Given the description of an element on the screen output the (x, y) to click on. 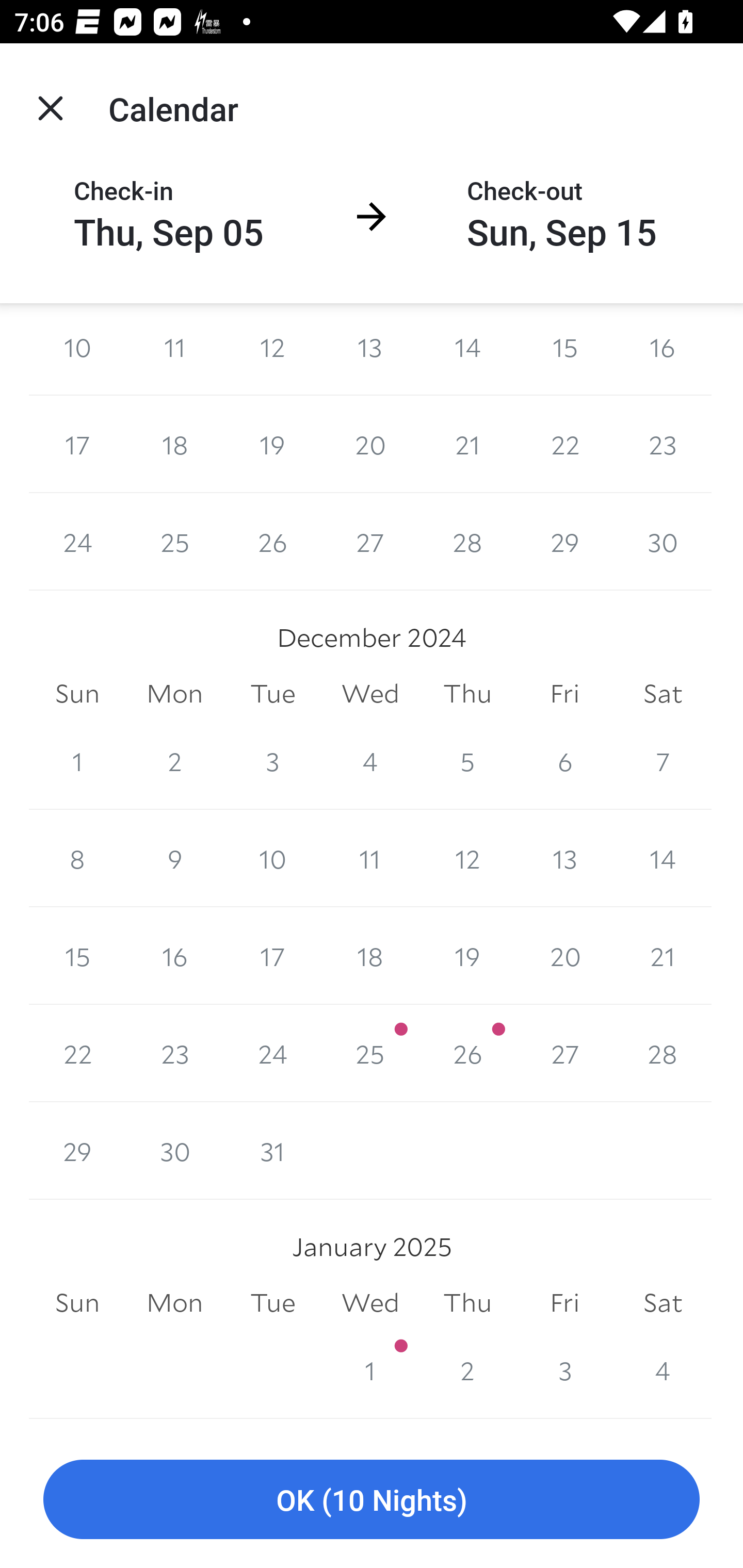
10 10 November 2024 (77, 348)
11 11 November 2024 (174, 348)
12 12 November 2024 (272, 348)
13 13 November 2024 (370, 348)
14 14 November 2024 (467, 348)
15 15 November 2024 (564, 348)
16 16 November 2024 (662, 348)
17 17 November 2024 (77, 443)
18 18 November 2024 (174, 443)
19 19 November 2024 (272, 443)
20 20 November 2024 (370, 443)
21 21 November 2024 (467, 443)
22 22 November 2024 (564, 443)
23 23 November 2024 (662, 443)
24 24 November 2024 (77, 541)
25 25 November 2024 (174, 541)
26 26 November 2024 (272, 541)
27 27 November 2024 (370, 541)
28 28 November 2024 (467, 541)
29 29 November 2024 (564, 541)
30 30 November 2024 (662, 541)
Sun (77, 693)
Mon (174, 693)
Tue (272, 693)
Wed (370, 693)
Thu (467, 693)
Fri (564, 693)
Sat (662, 693)
1 1 December 2024 (77, 760)
2 2 December 2024 (174, 760)
3 3 December 2024 (272, 760)
4 4 December 2024 (370, 760)
5 5 December 2024 (467, 760)
6 6 December 2024 (564, 760)
7 7 December 2024 (662, 760)
8 8 December 2024 (77, 858)
9 9 December 2024 (174, 858)
10 10 December 2024 (272, 858)
11 11 December 2024 (370, 858)
12 12 December 2024 (467, 858)
13 13 December 2024 (564, 858)
14 14 December 2024 (662, 858)
15 15 December 2024 (77, 956)
16 16 December 2024 (174, 956)
17 17 December 2024 (272, 956)
18 18 December 2024 (370, 956)
19 19 December 2024 (467, 956)
20 20 December 2024 (564, 956)
21 21 December 2024 (662, 956)
